Given the description of an element on the screen output the (x, y) to click on. 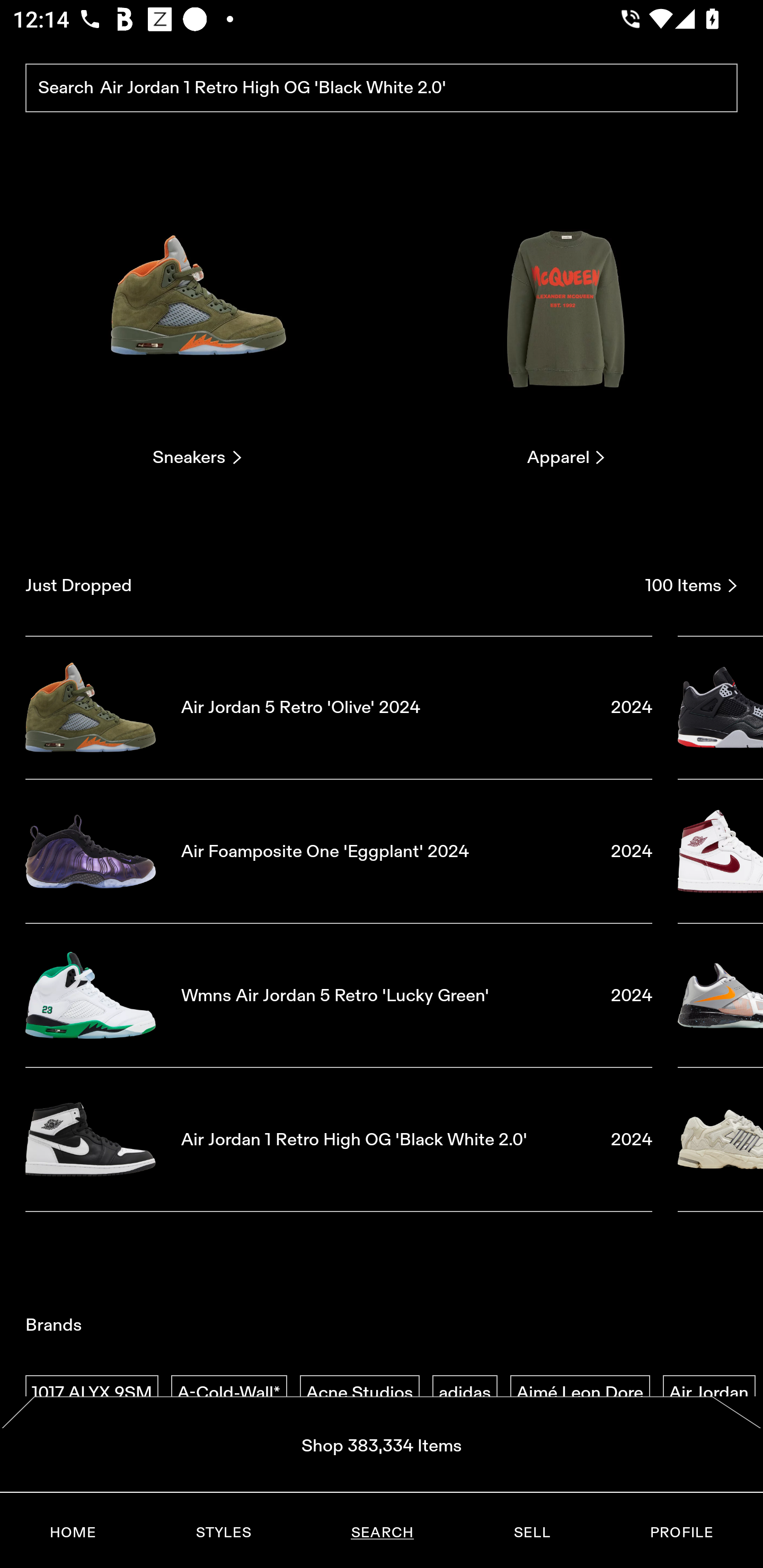
Search (381, 88)
Sneakers (196, 323)
Apparel (565, 323)
Just Dropped (328, 585)
100 Items (691, 585)
Air Jordan 5 Retro 'Olive' 2024 2024 (338, 707)
Air Foamposite One 'Eggplant' 2024 2024 (338, 851)
Wmns Air Jordan 5 Retro 'Lucky Green' 2024 (338, 995)
Air Jordan 1 Retro High OG 'Black White 2.0' 2024 (338, 1139)
1017 ALYX 9SM (91, 1393)
A-Cold-Wall* (228, 1393)
Acne Studios (359, 1393)
adidas (464, 1393)
Aimé Leon Dore (580, 1393)
Air Jordan (709, 1393)
HOME (72, 1532)
STYLES (222, 1532)
SEARCH (381, 1532)
SELL (531, 1532)
PROFILE (681, 1532)
